Given the description of an element on the screen output the (x, y) to click on. 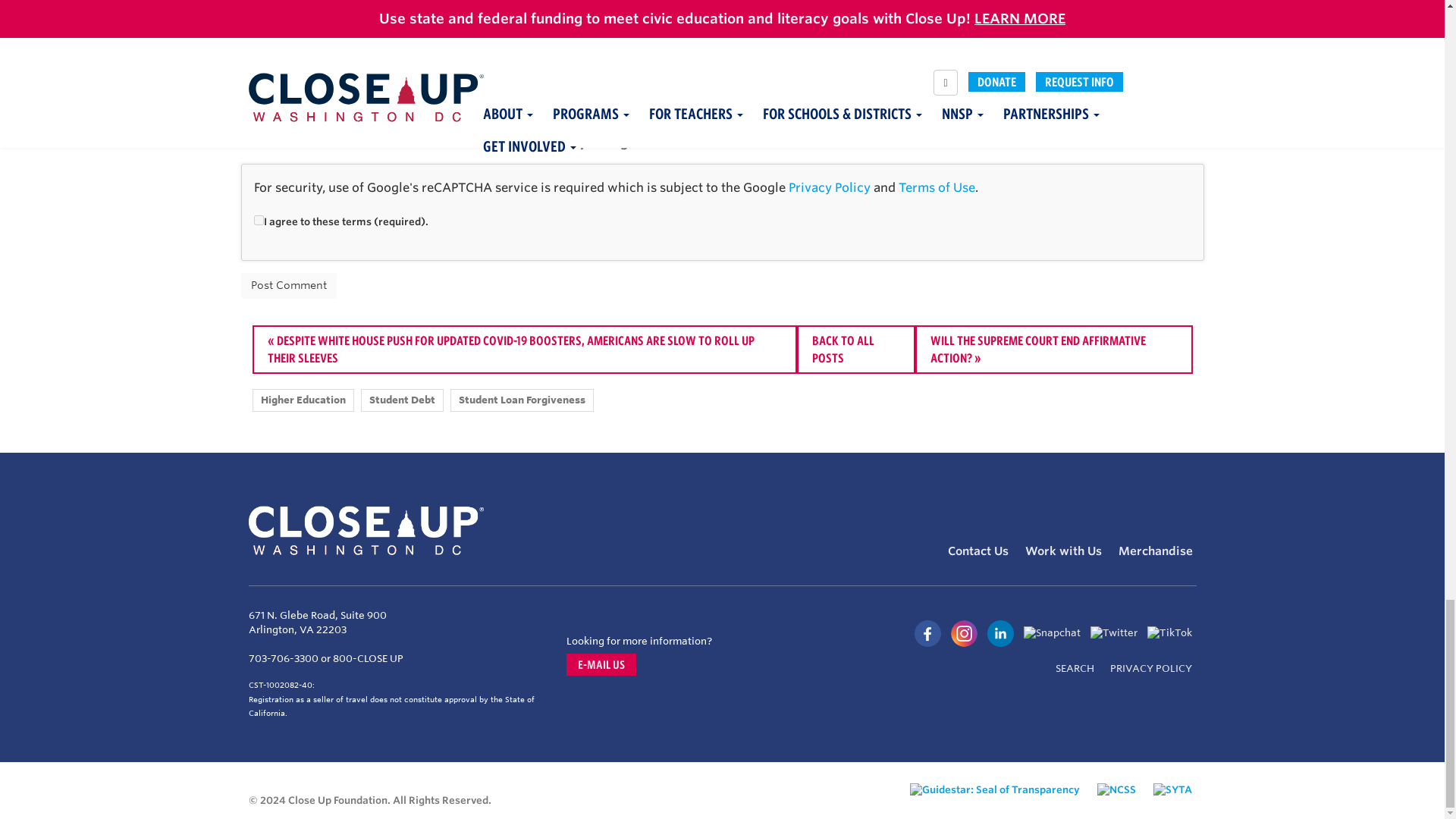
subscribe (423, 111)
subscribe (423, 141)
Post Comment (288, 285)
on (258, 220)
